Given the description of an element on the screen output the (x, y) to click on. 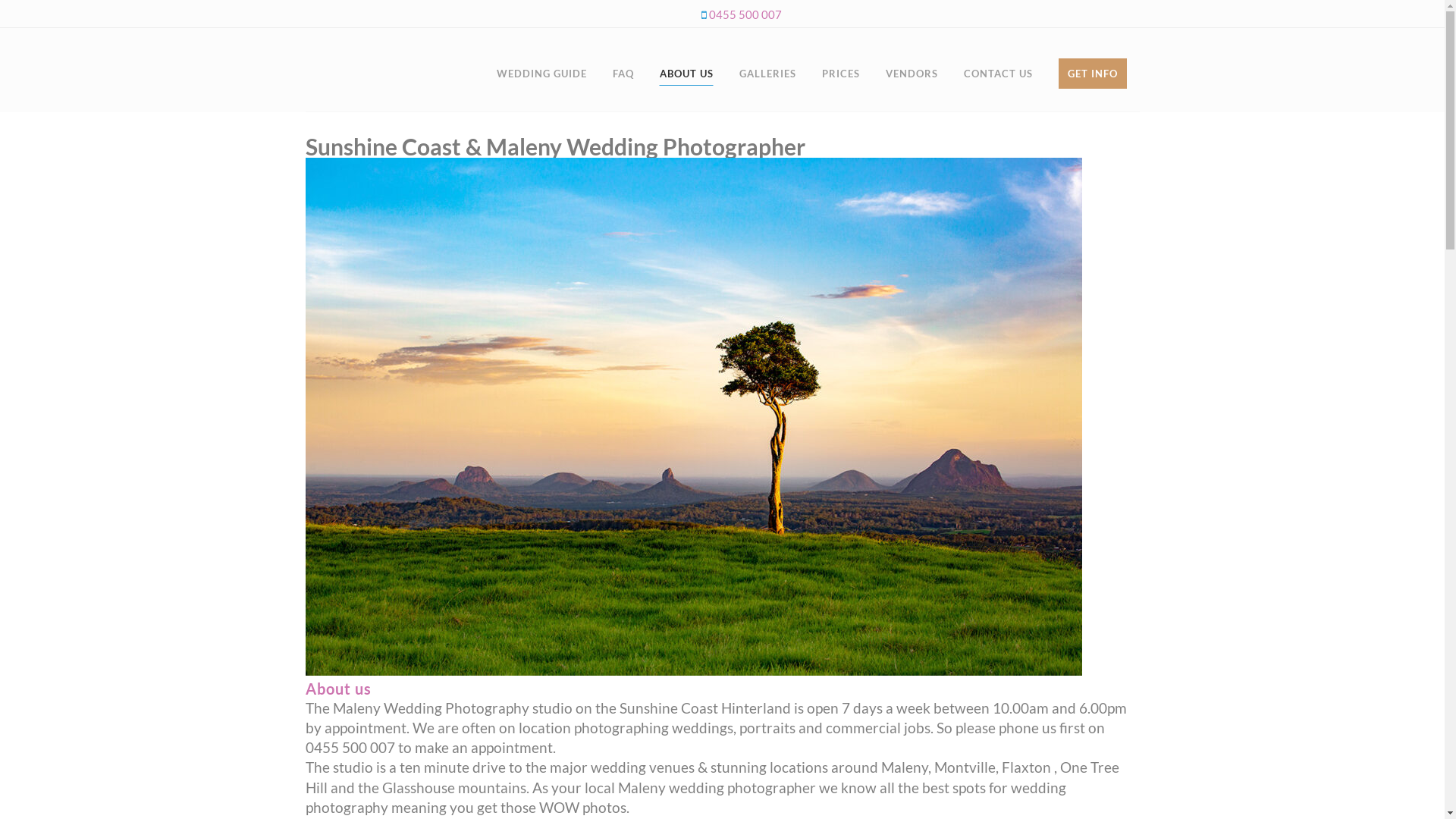
PRICES Element type: text (840, 69)
CONTACT US Element type: text (997, 69)
VENDORS Element type: text (911, 69)
ABOUT US Element type: text (685, 69)
FAQ Element type: text (622, 69)
0455 500 007 Element type: text (744, 14)
GALLERIES Element type: text (767, 69)
WEDDING GUIDE Element type: text (541, 69)
GET INFO Element type: text (1091, 69)
